Given the description of an element on the screen output the (x, y) to click on. 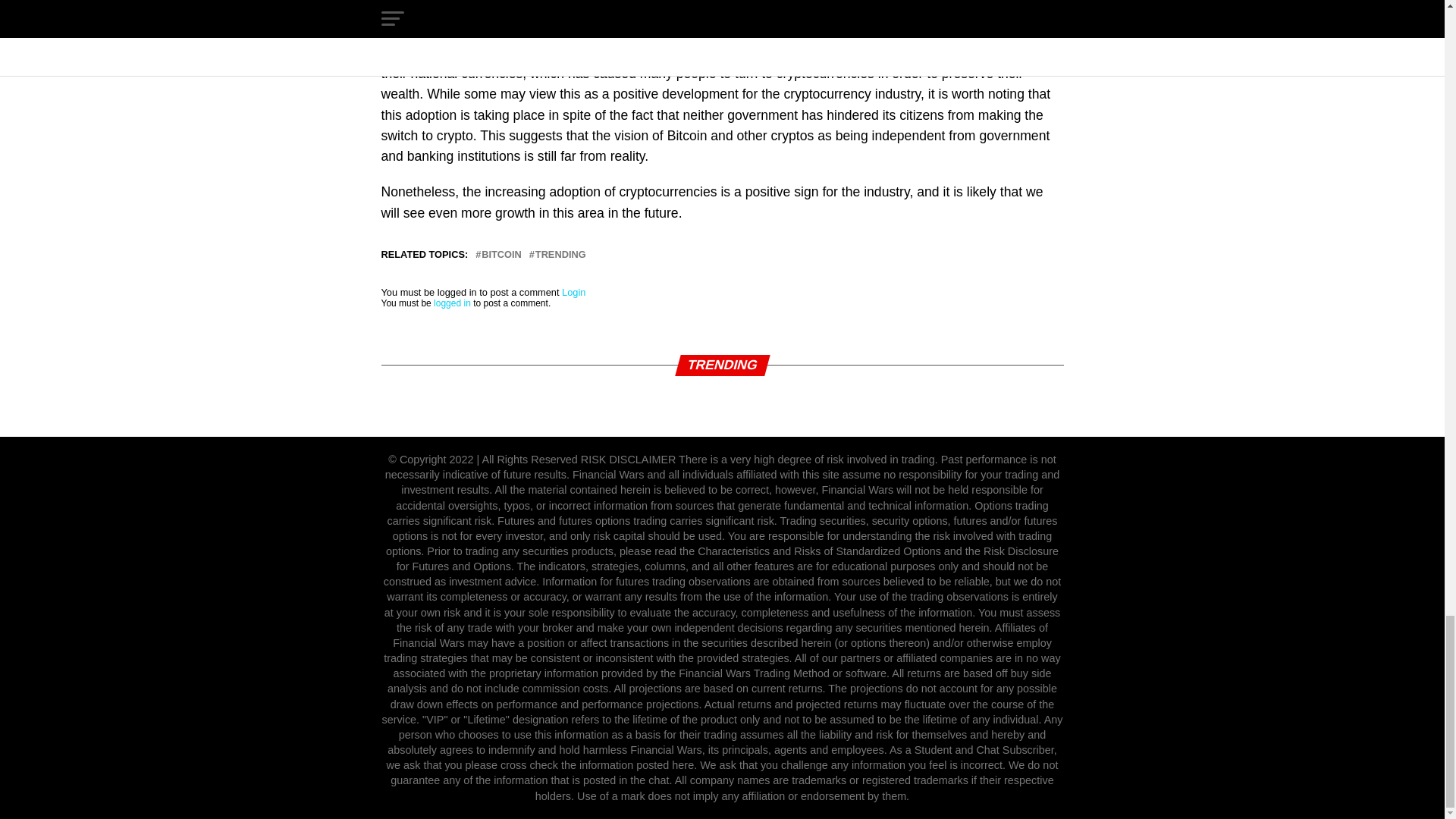
Login (573, 292)
TRENDING (560, 255)
logged in (451, 303)
BITCOIN (501, 255)
